Given the description of an element on the screen output the (x, y) to click on. 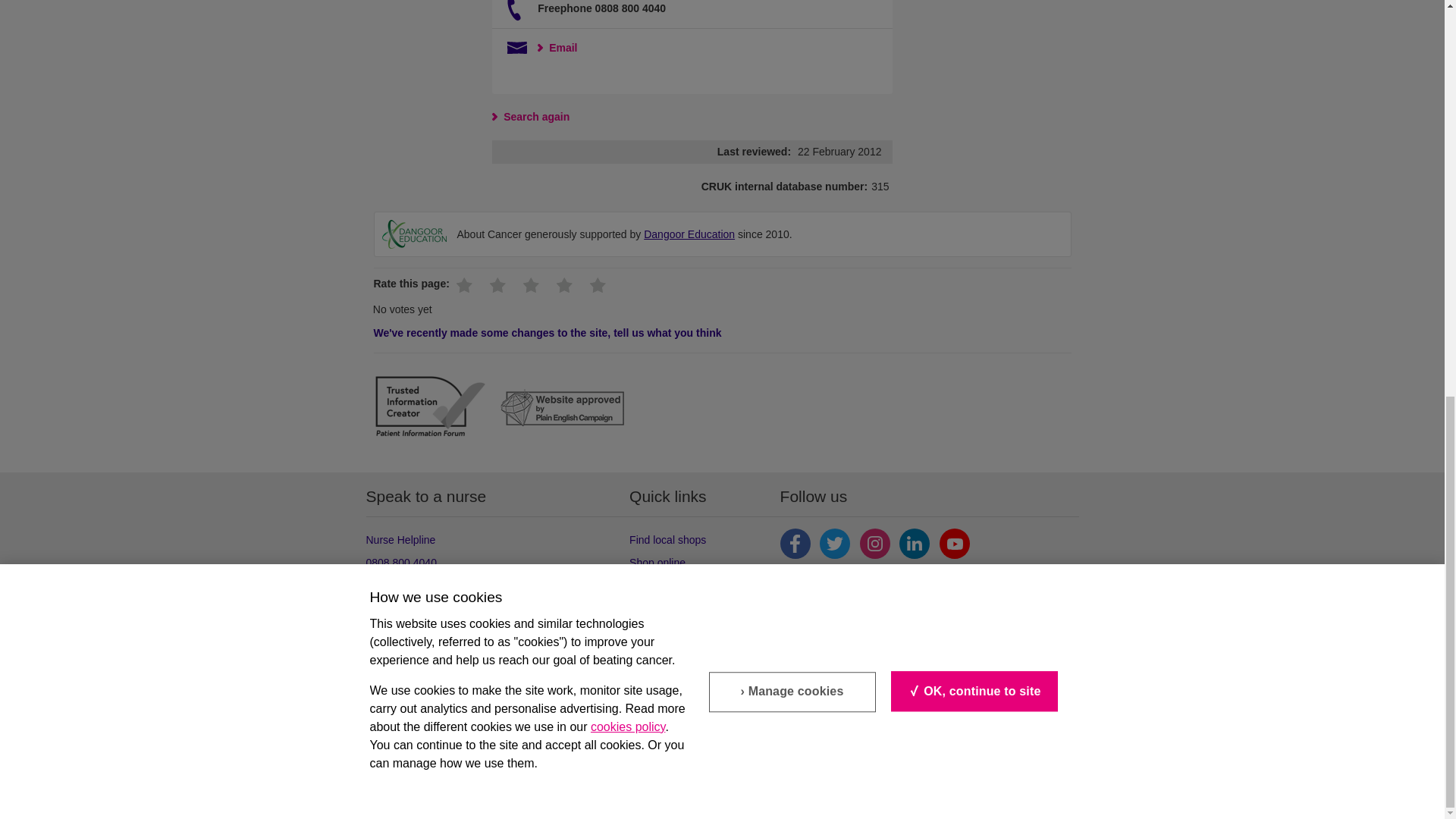
Dangoor Education (413, 234)
Visit the Patient Information Forum (429, 408)
Visit Dangoor Education (689, 234)
Visit the Plain English Campaign (562, 409)
